Given the description of an element on the screen output the (x, y) to click on. 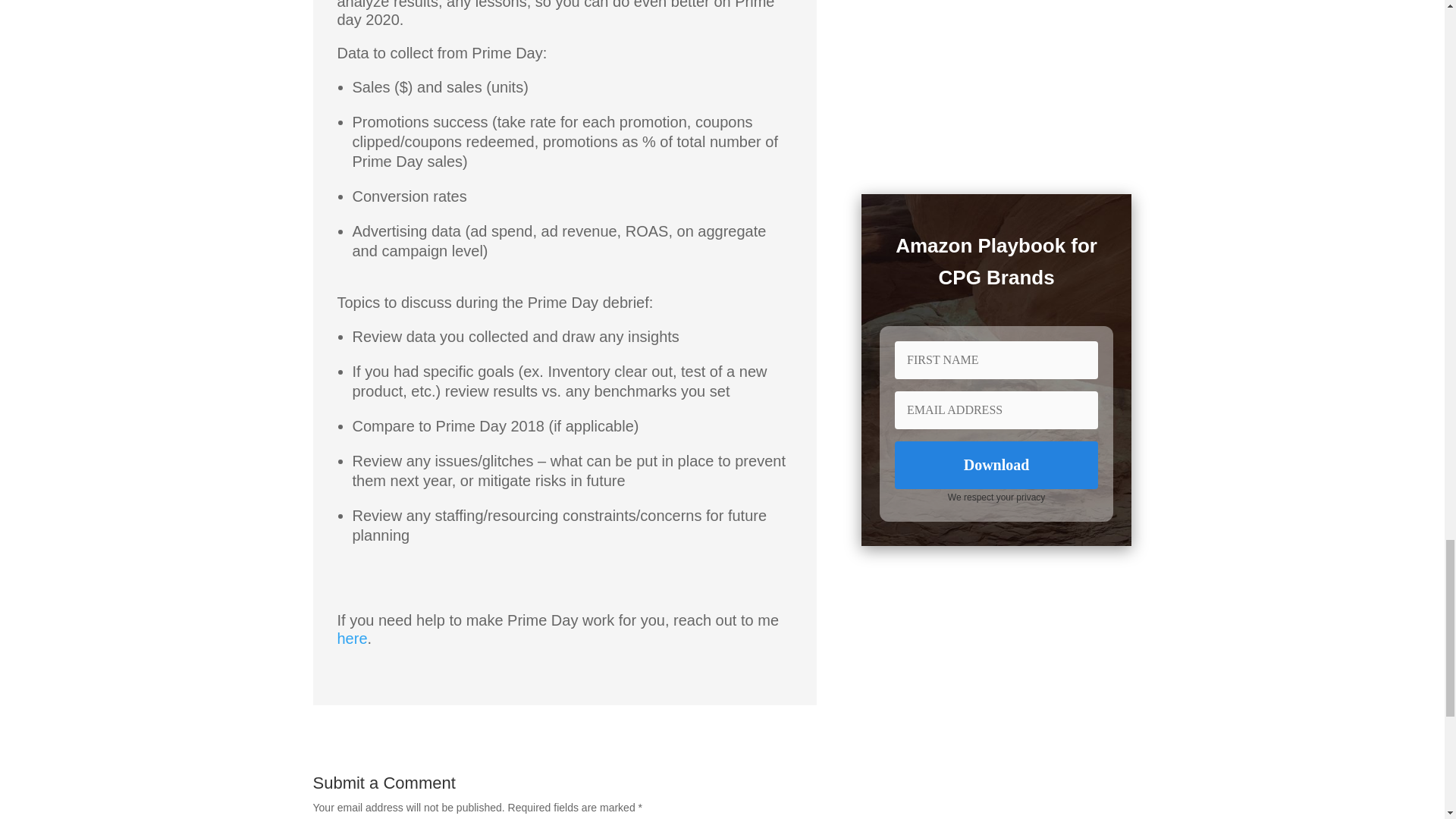
here (351, 638)
